Given the description of an element on the screen output the (x, y) to click on. 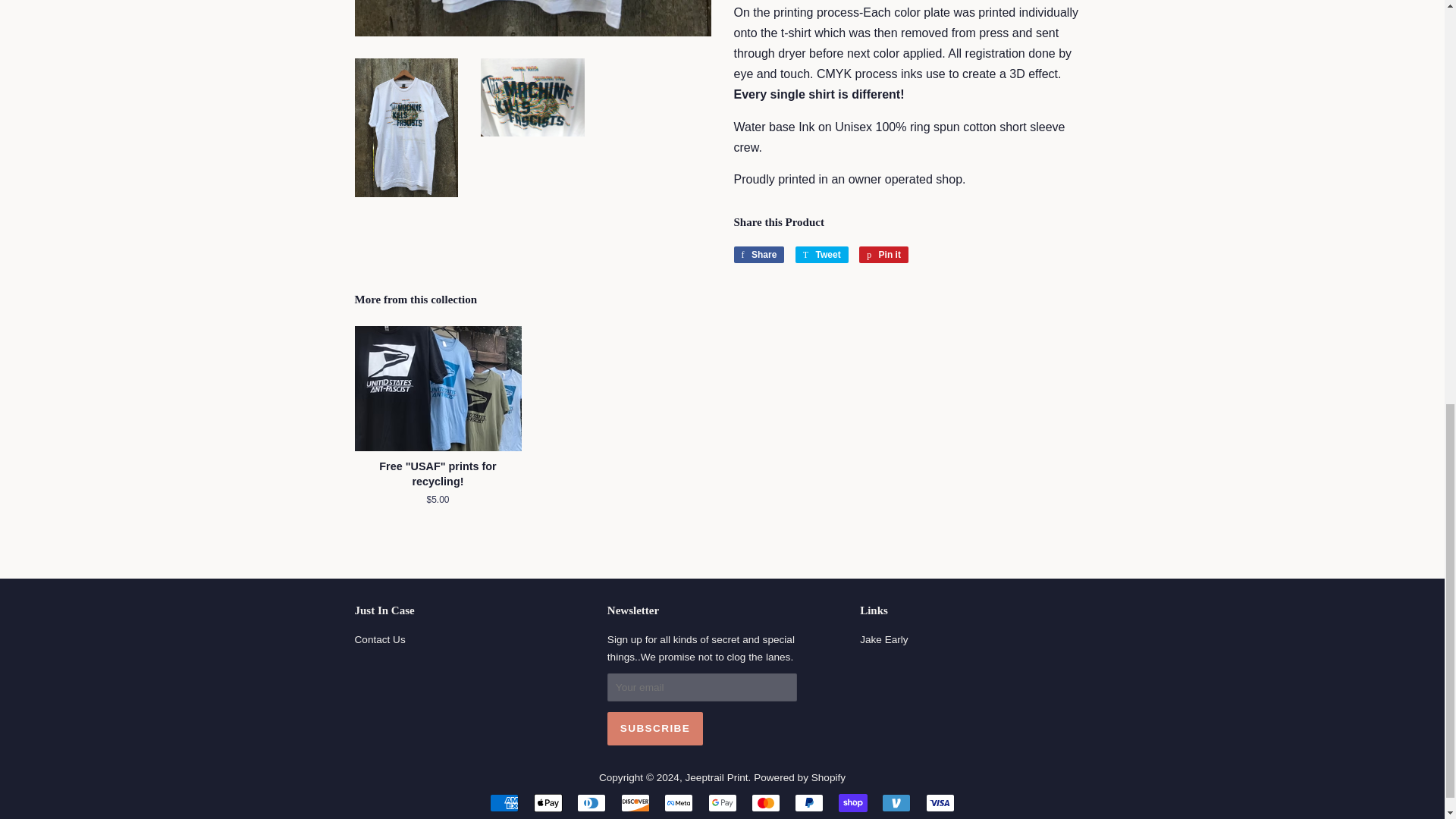
Powered by Shopify (799, 777)
Jeeptrail Print (716, 777)
Venmo (896, 802)
Tweet on Twitter (821, 254)
Discover (635, 802)
Meta Pay (678, 802)
Apple Pay (548, 802)
Diners Club (590, 802)
Subscribe (655, 728)
